Given the description of an element on the screen output the (x, y) to click on. 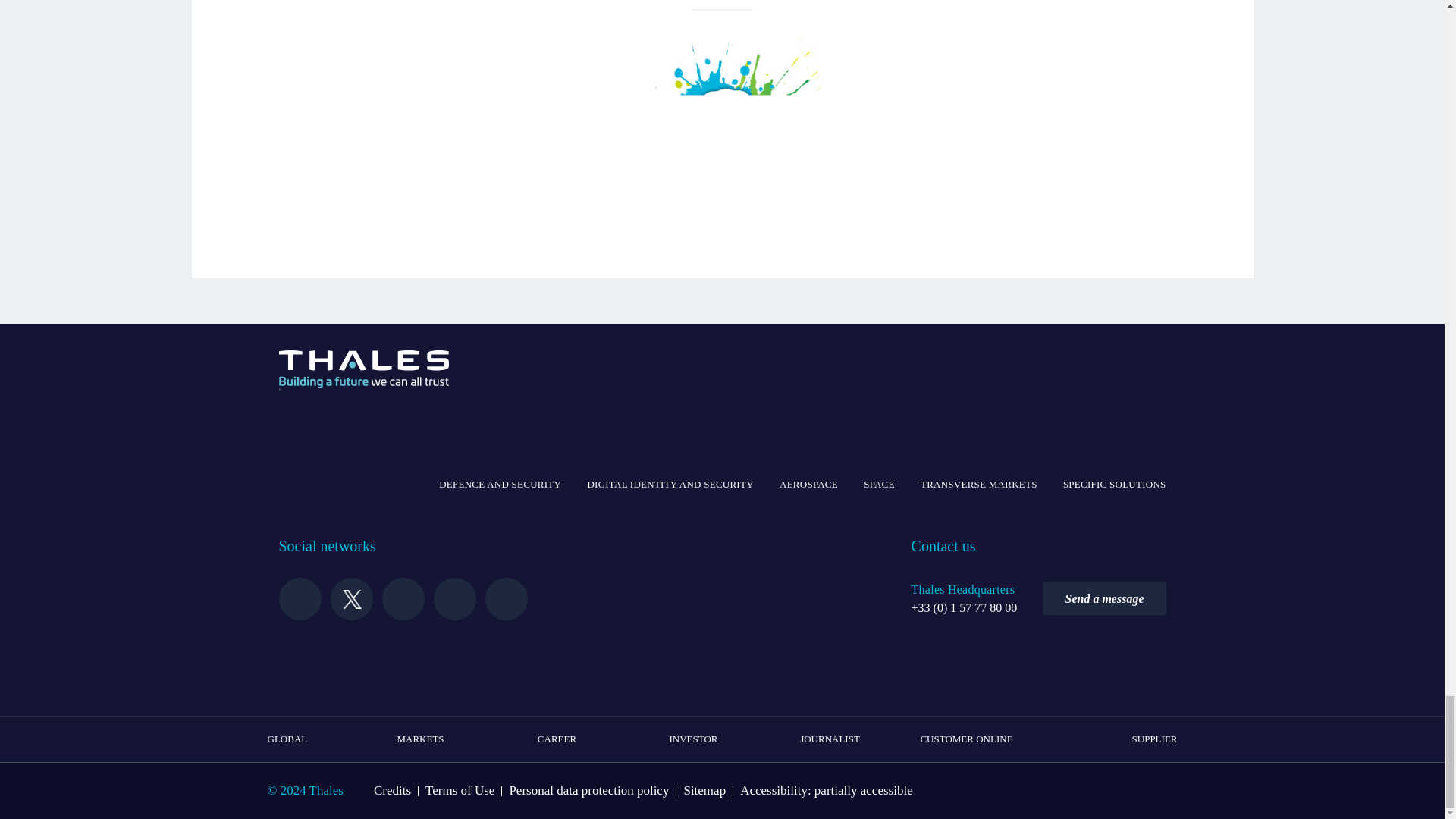
DIGITAL IDENTITY AND SECURITY (669, 484)
SPACE (879, 484)
DEFENCE AND SECURITY (499, 484)
TRANSVERSE MARKETS (978, 484)
AEROSPACE (808, 484)
Accessibility level of this web site (825, 789)
